Given the description of an element on the screen output the (x, y) to click on. 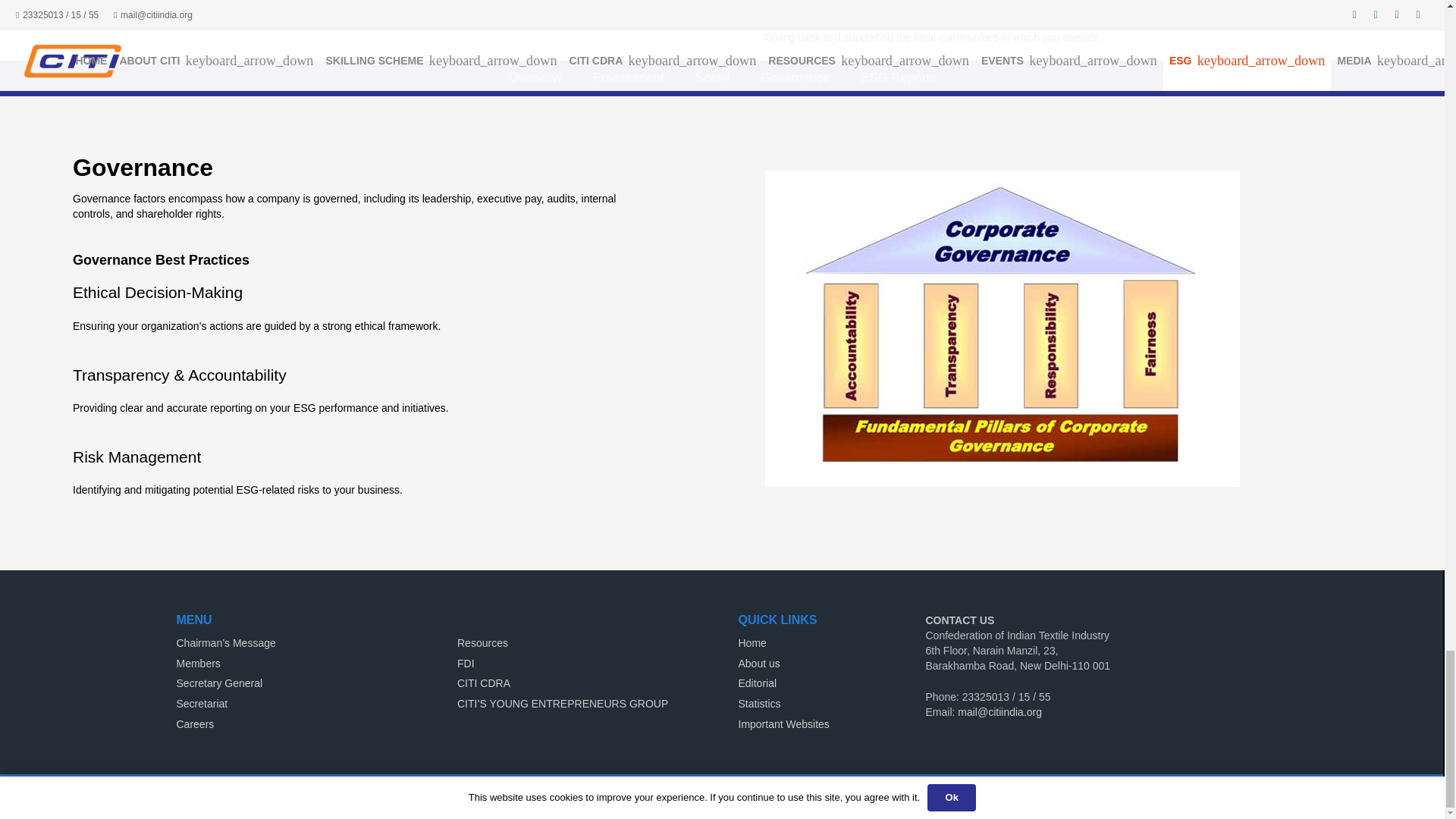
LinkedIn (1225, 795)
Facebook (1166, 795)
Twitter (1195, 795)
YouTube (1254, 795)
